Given the description of an element on the screen output the (x, y) to click on. 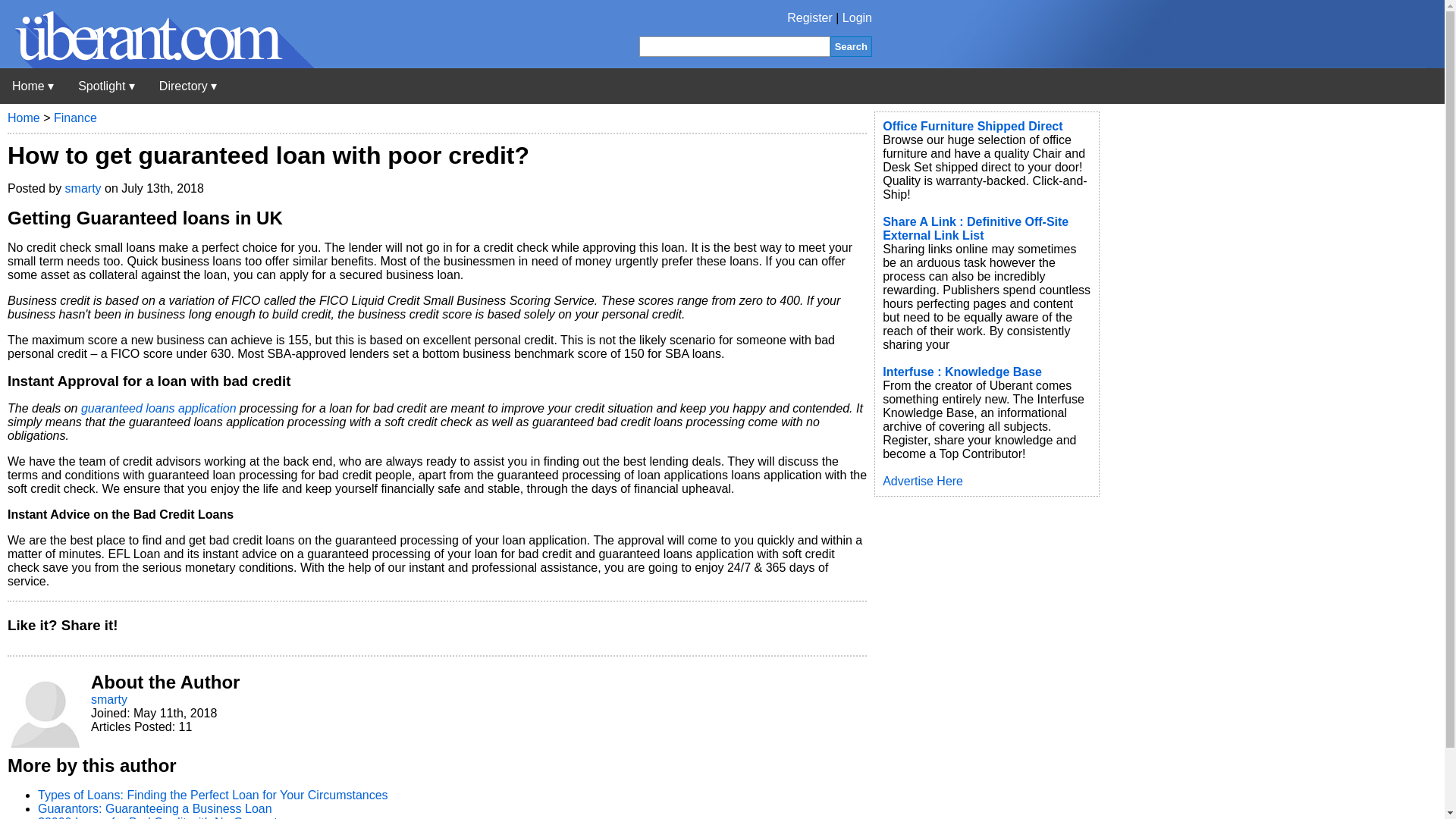
Uberant (32, 85)
Uberant (157, 63)
Register (809, 17)
Search (850, 46)
Search (850, 46)
Login (857, 17)
